Given the description of an element on the screen output the (x, y) to click on. 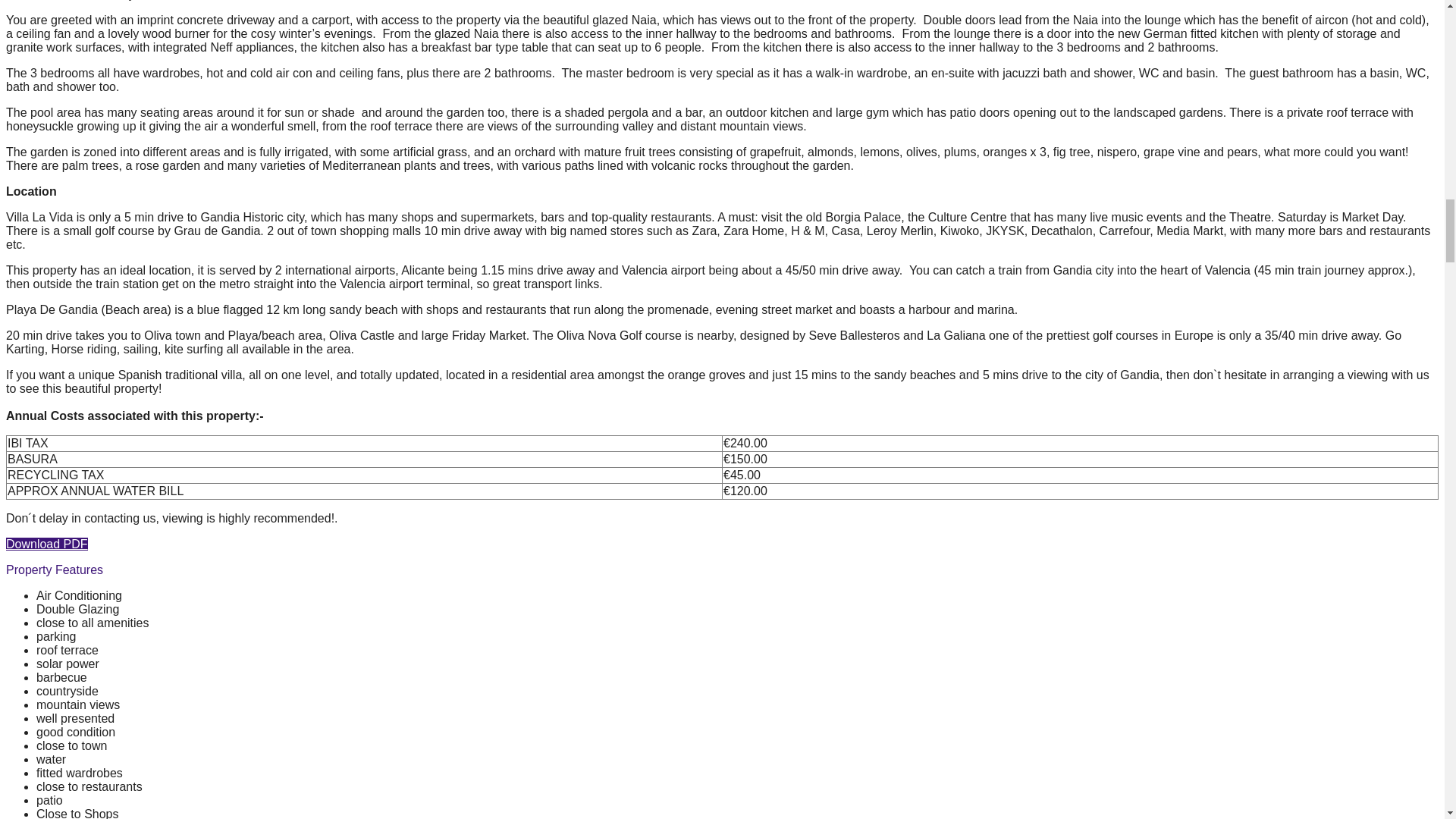
Download PDF (46, 543)
